Given the description of an element on the screen output the (x, y) to click on. 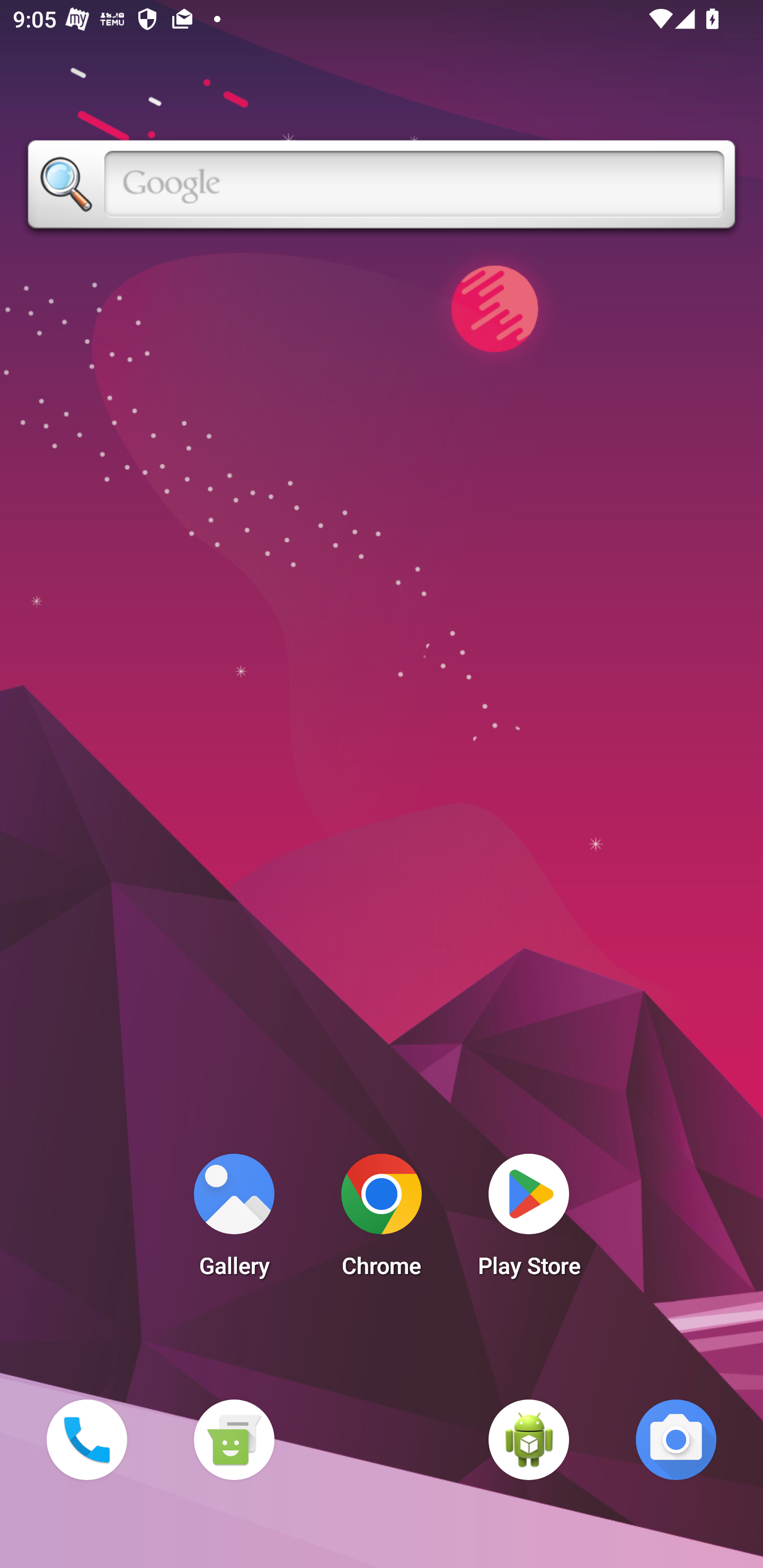
Gallery (233, 1220)
Chrome (381, 1220)
Play Store (528, 1220)
Phone (86, 1439)
Messaging (233, 1439)
WebView Browser Tester (528, 1439)
Camera (676, 1439)
